Given the description of an element on the screen output the (x, y) to click on. 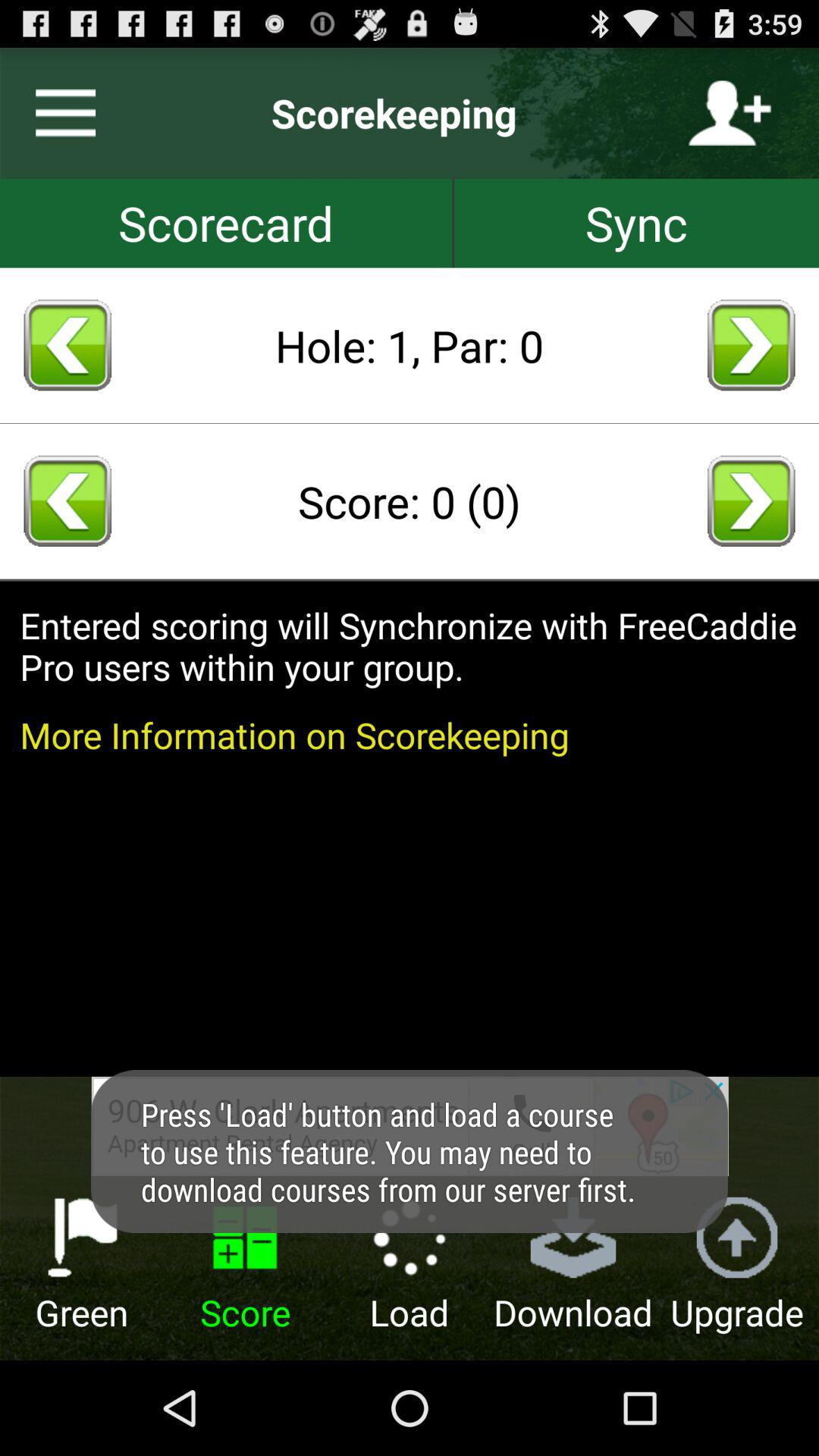
back button (67, 344)
